Given the description of an element on the screen output the (x, y) to click on. 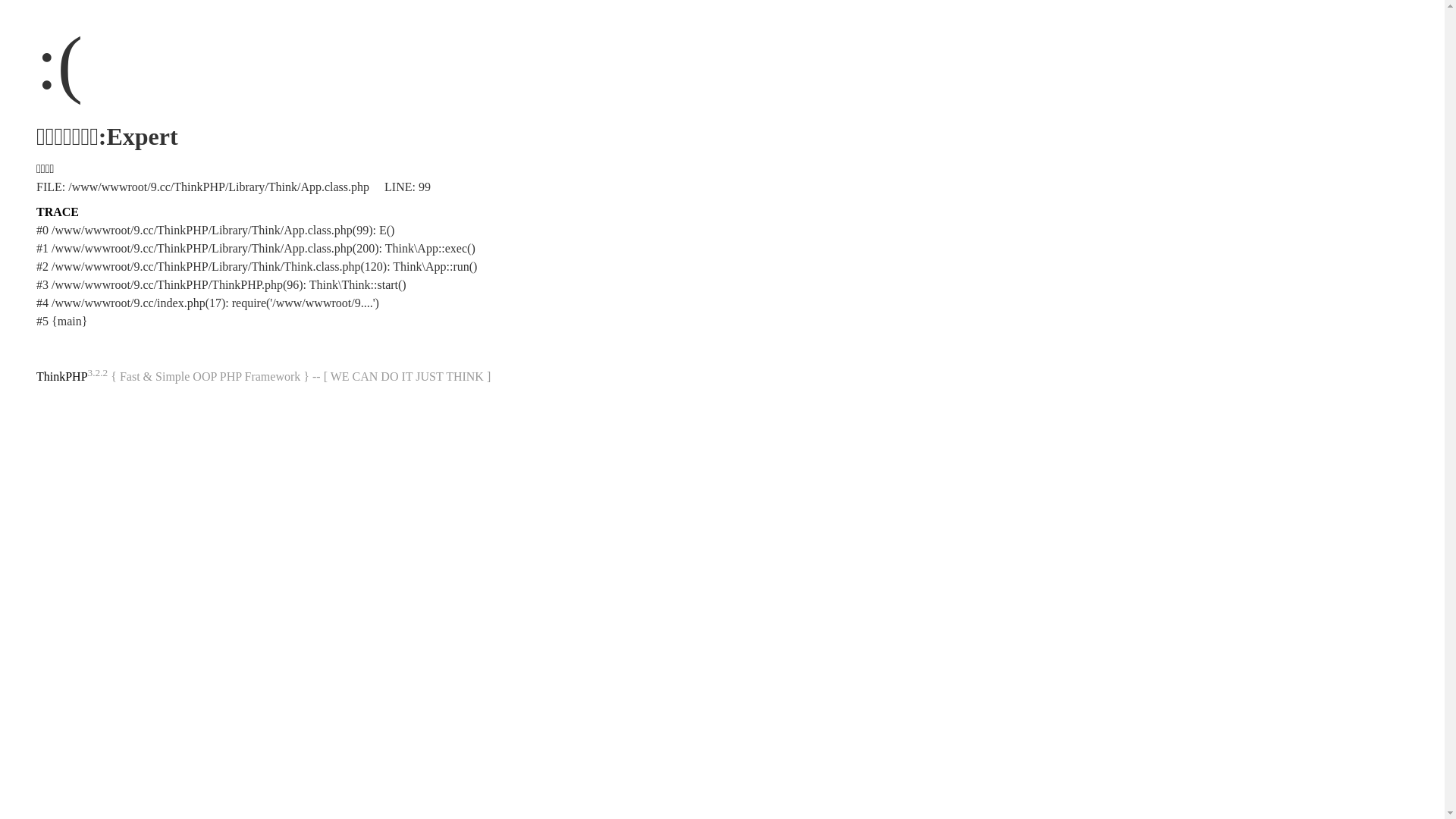
ThinkPHP Element type: text (61, 376)
